Given the description of an element on the screen output the (x, y) to click on. 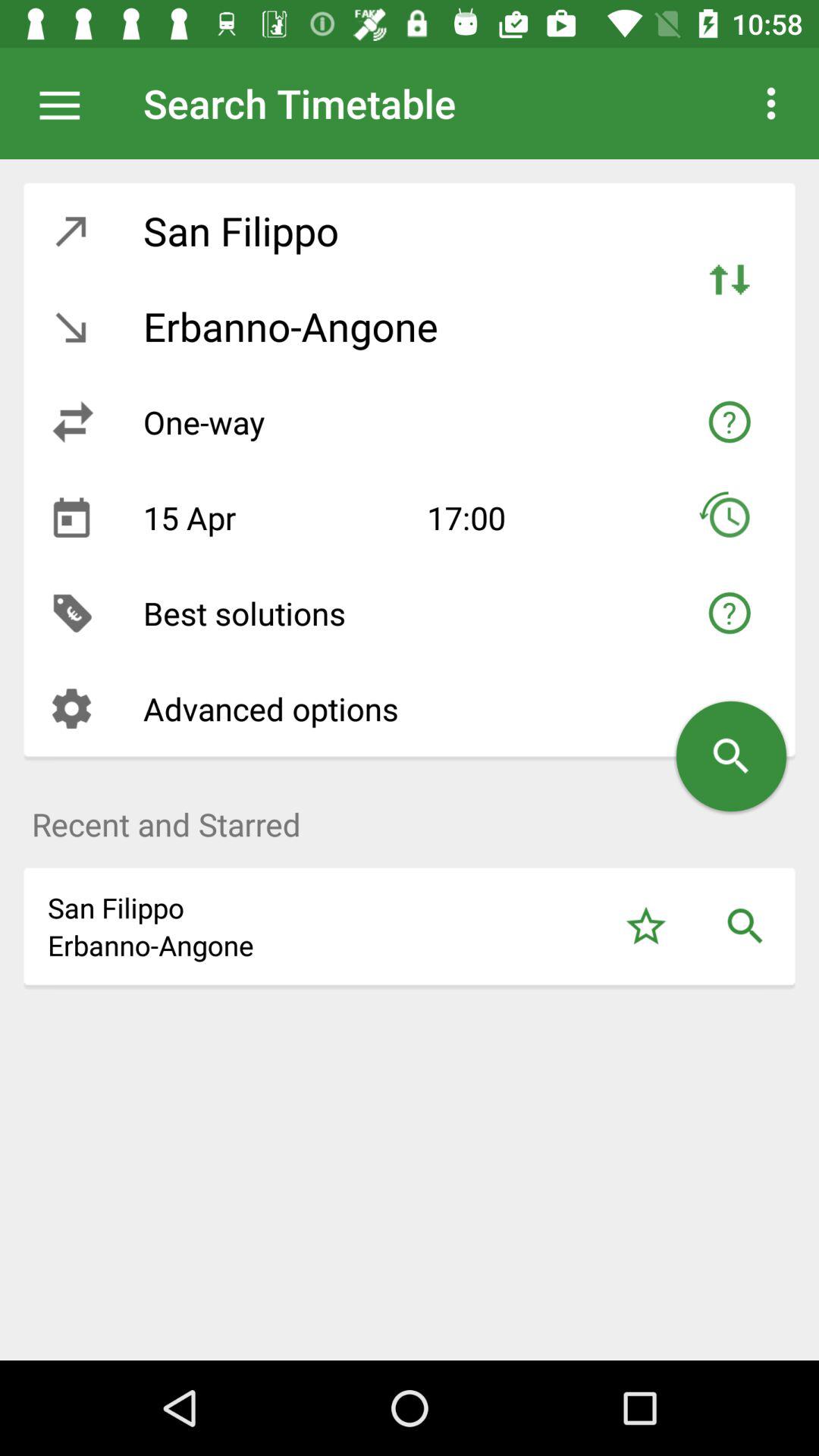
turn off recent and starred icon (409, 815)
